Given the description of an element on the screen output the (x, y) to click on. 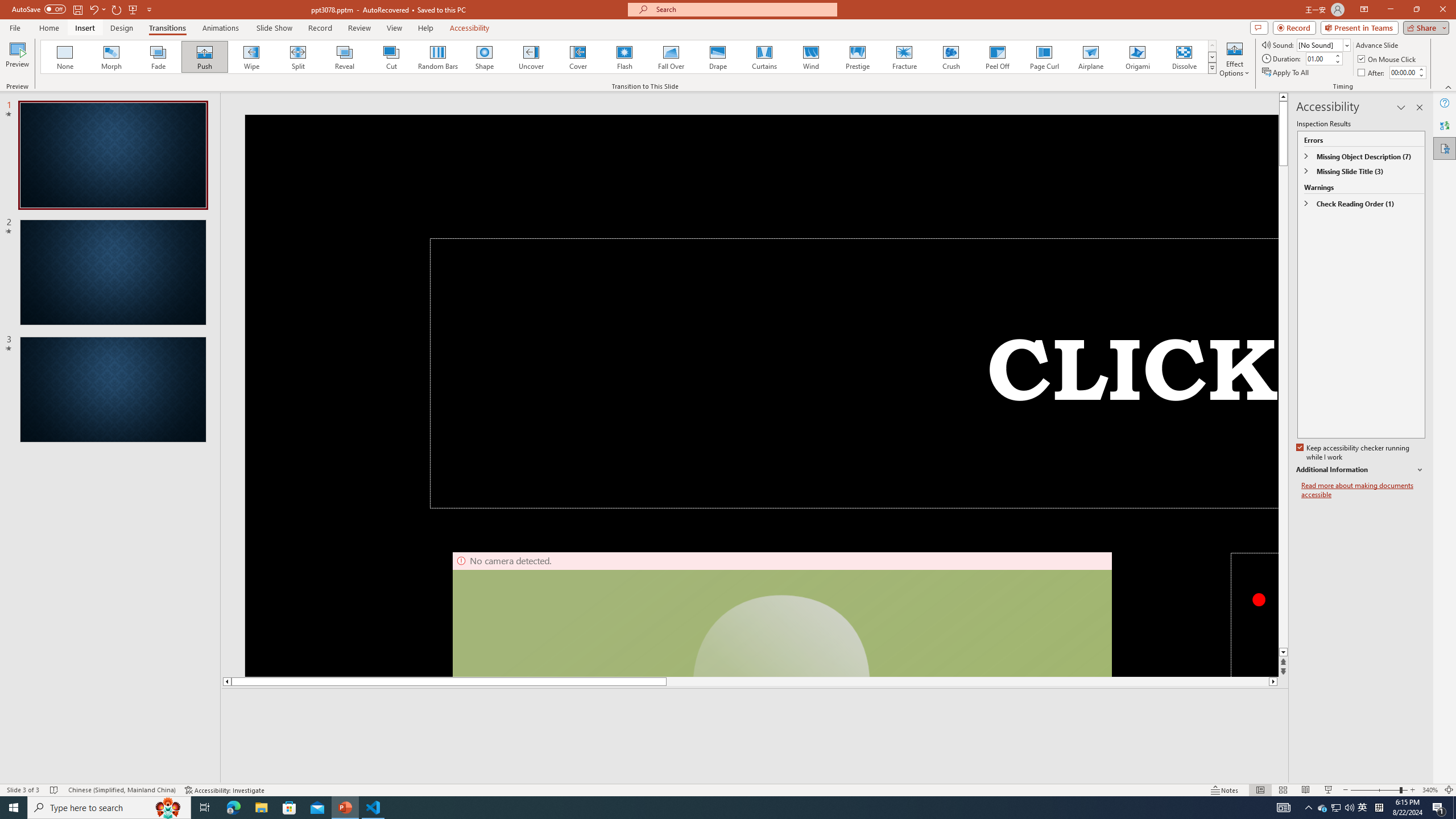
Wipe (251, 56)
Transition Effects (1212, 67)
Effect Options (1234, 58)
Apply To All (1286, 72)
